Given the description of an element on the screen output the (x, y) to click on. 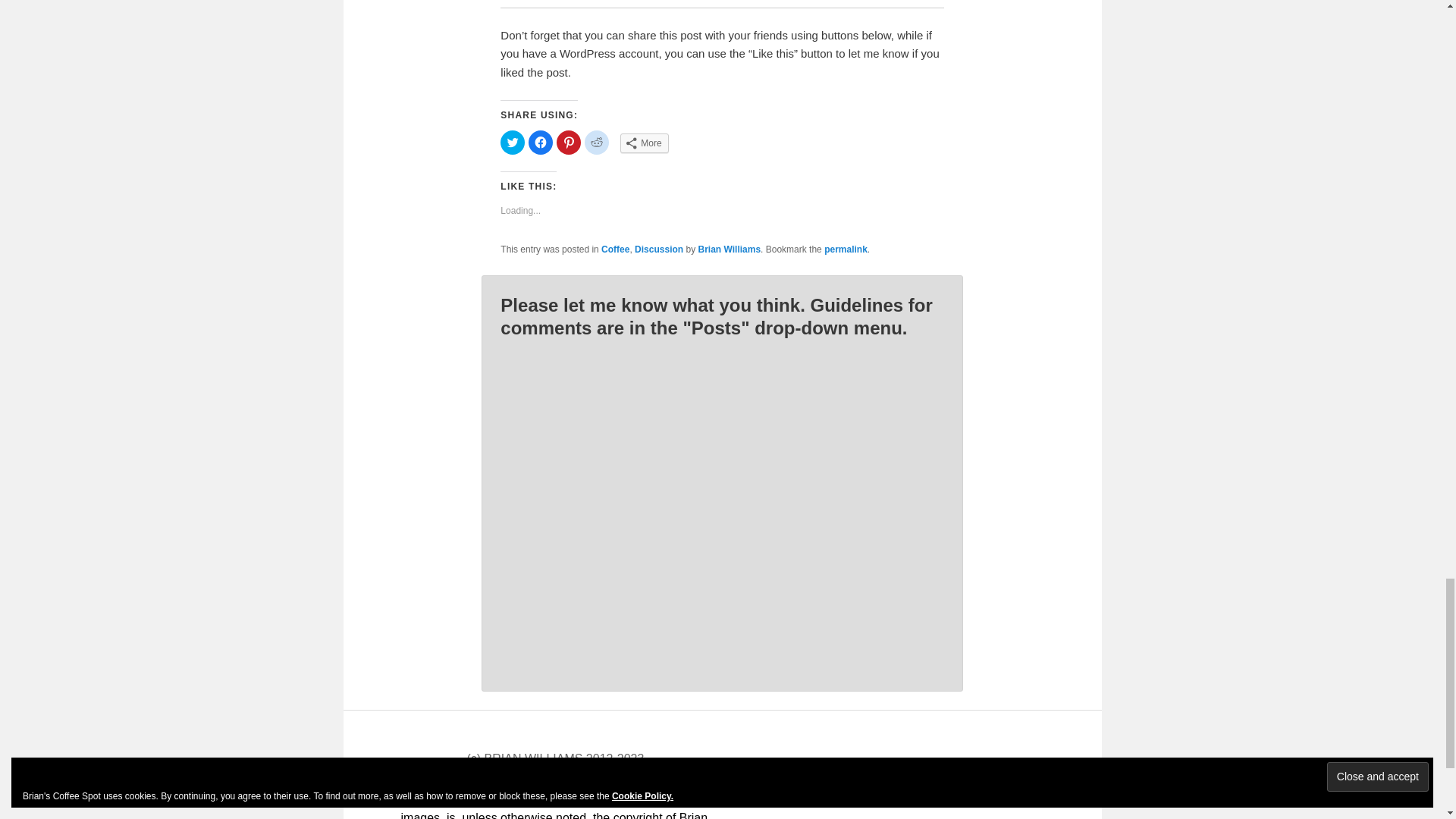
Click to share on Twitter (512, 142)
Click to share on Pinterest (568, 142)
Click to share on Facebook (540, 142)
